Given the description of an element on the screen output the (x, y) to click on. 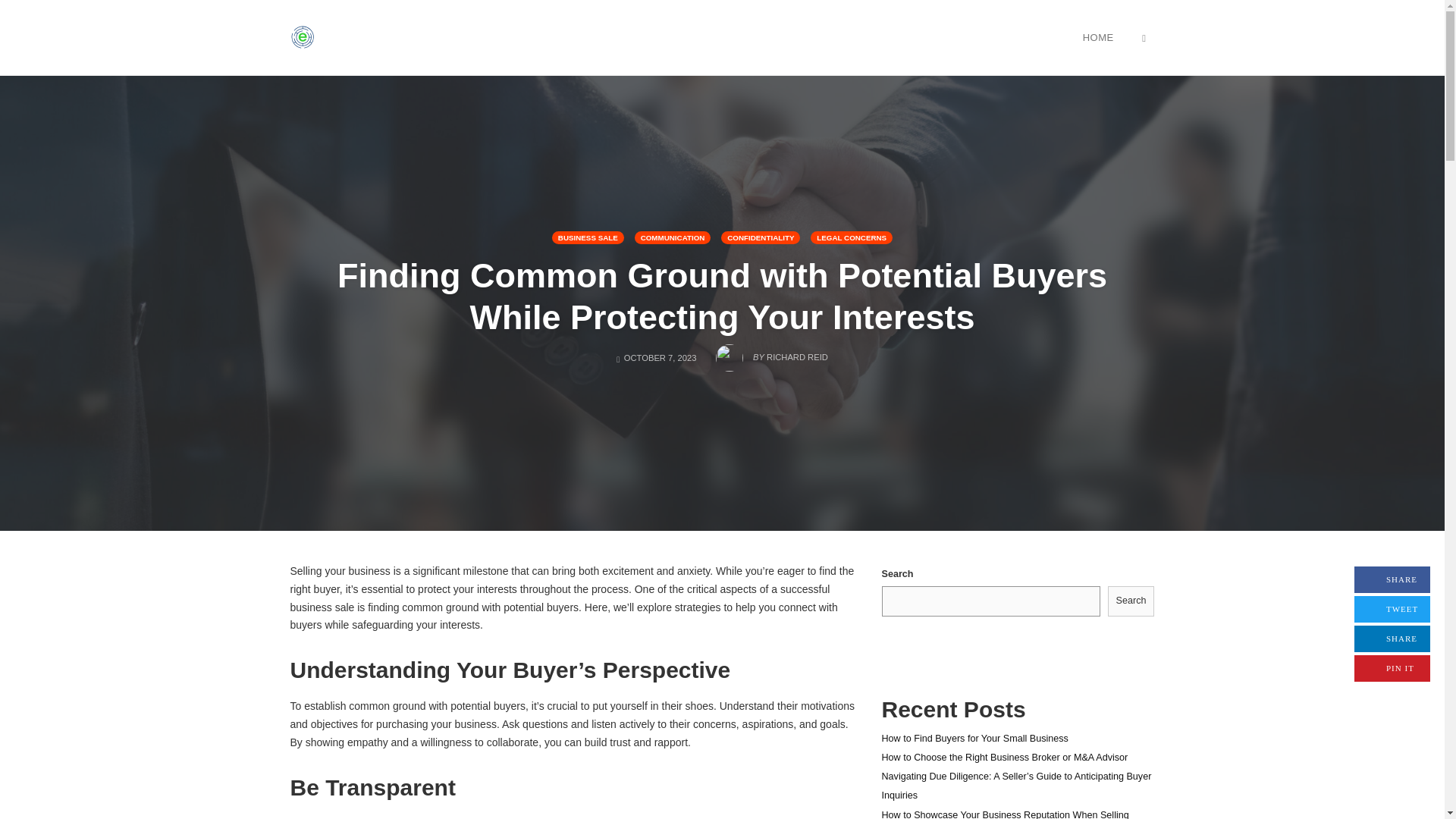
CONFIDENTIALITY (759, 237)
LEGAL CONCERNS (1391, 579)
COMMUNICATION (851, 237)
How to Find Buyers for Your Small Business (672, 237)
BUSINESS SALE (973, 738)
sellmybusiness-io (587, 237)
OPEN SEARCH FORM (301, 37)
BY RICHARD REID (1144, 37)
Search (772, 352)
